Given the description of an element on the screen output the (x, y) to click on. 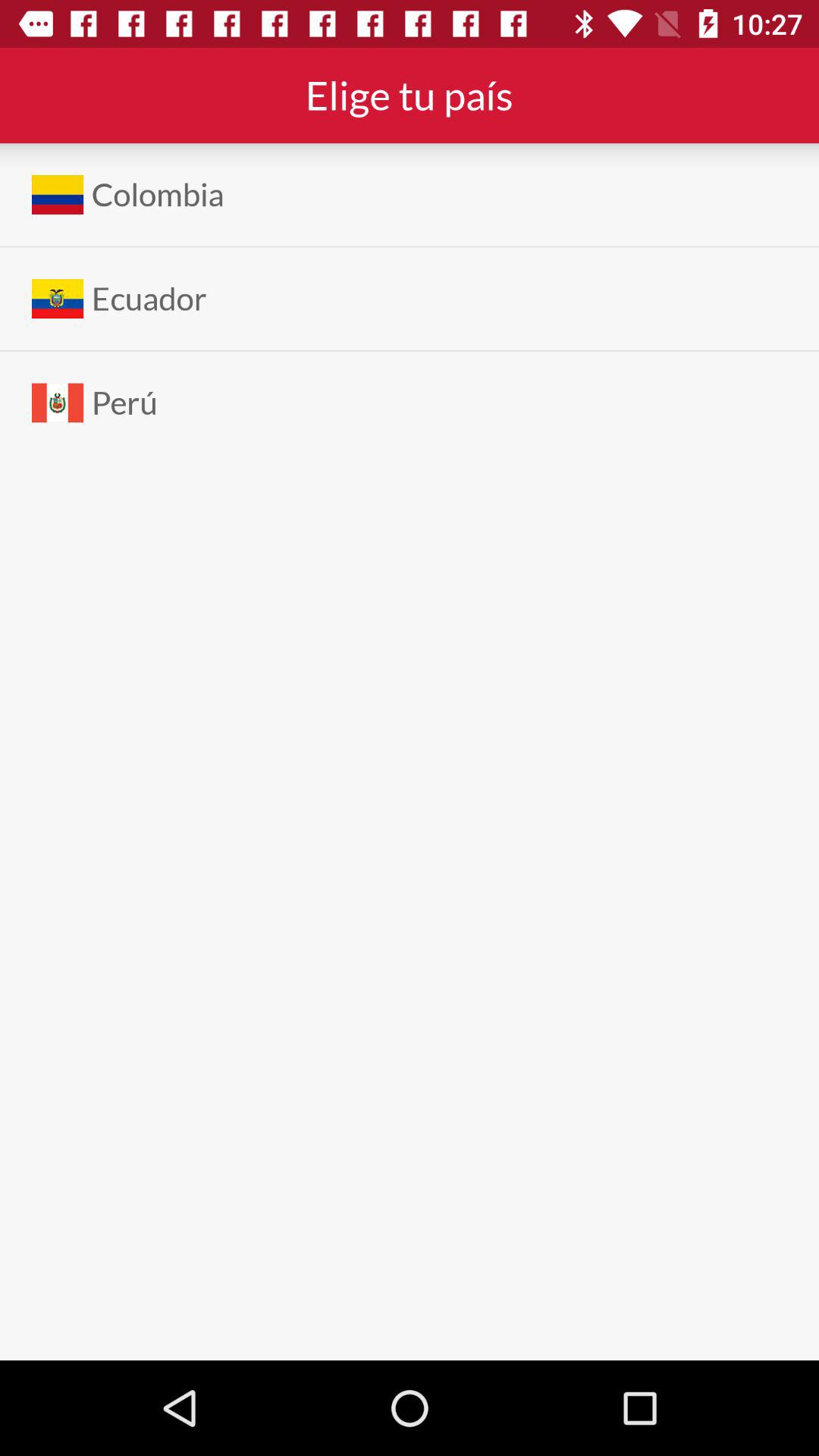
flip until the colombia item (157, 194)
